Given the description of an element on the screen output the (x, y) to click on. 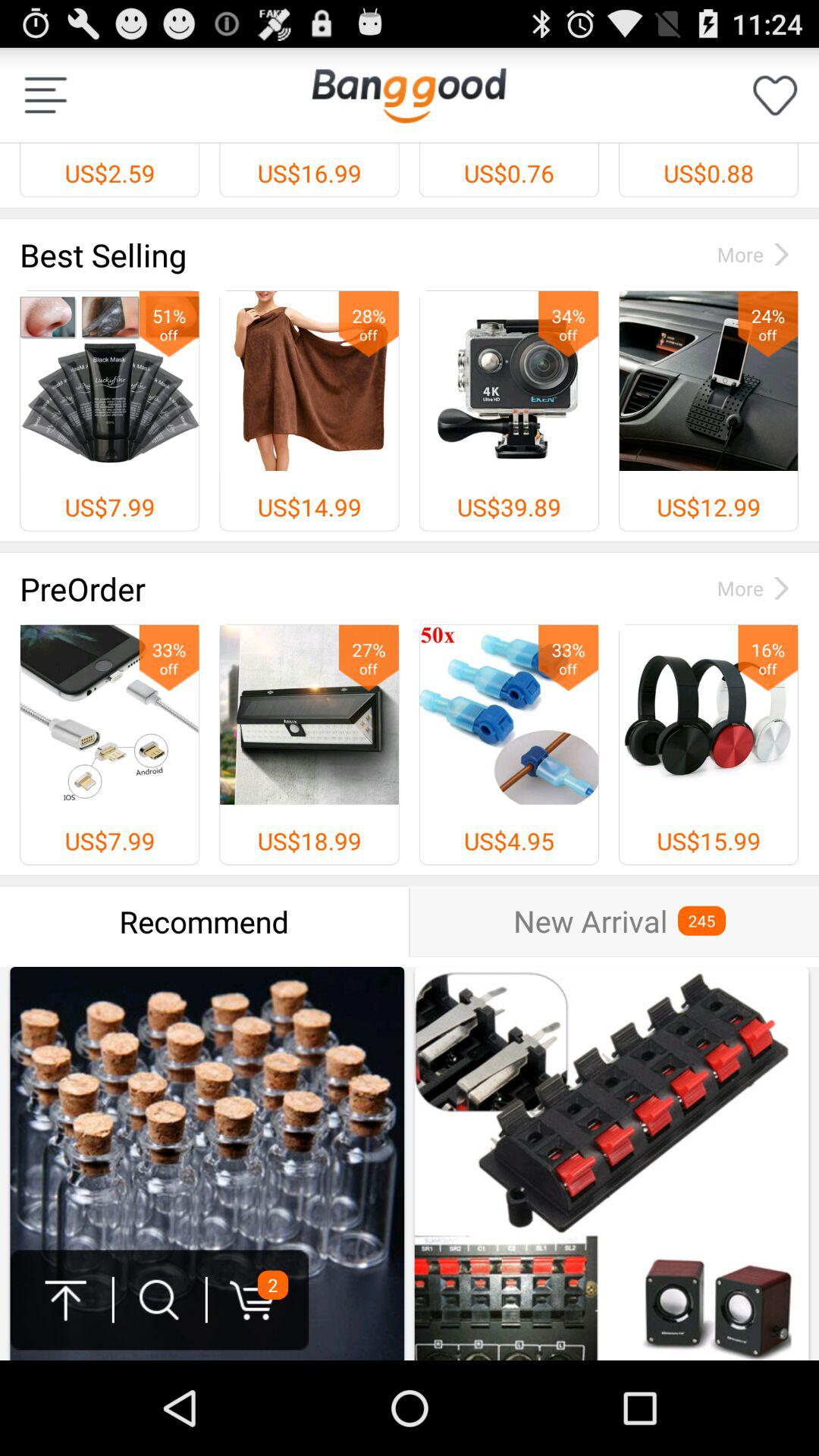
turn off the app to the left of us$0.88 (409, 95)
